Given the description of an element on the screen output the (x, y) to click on. 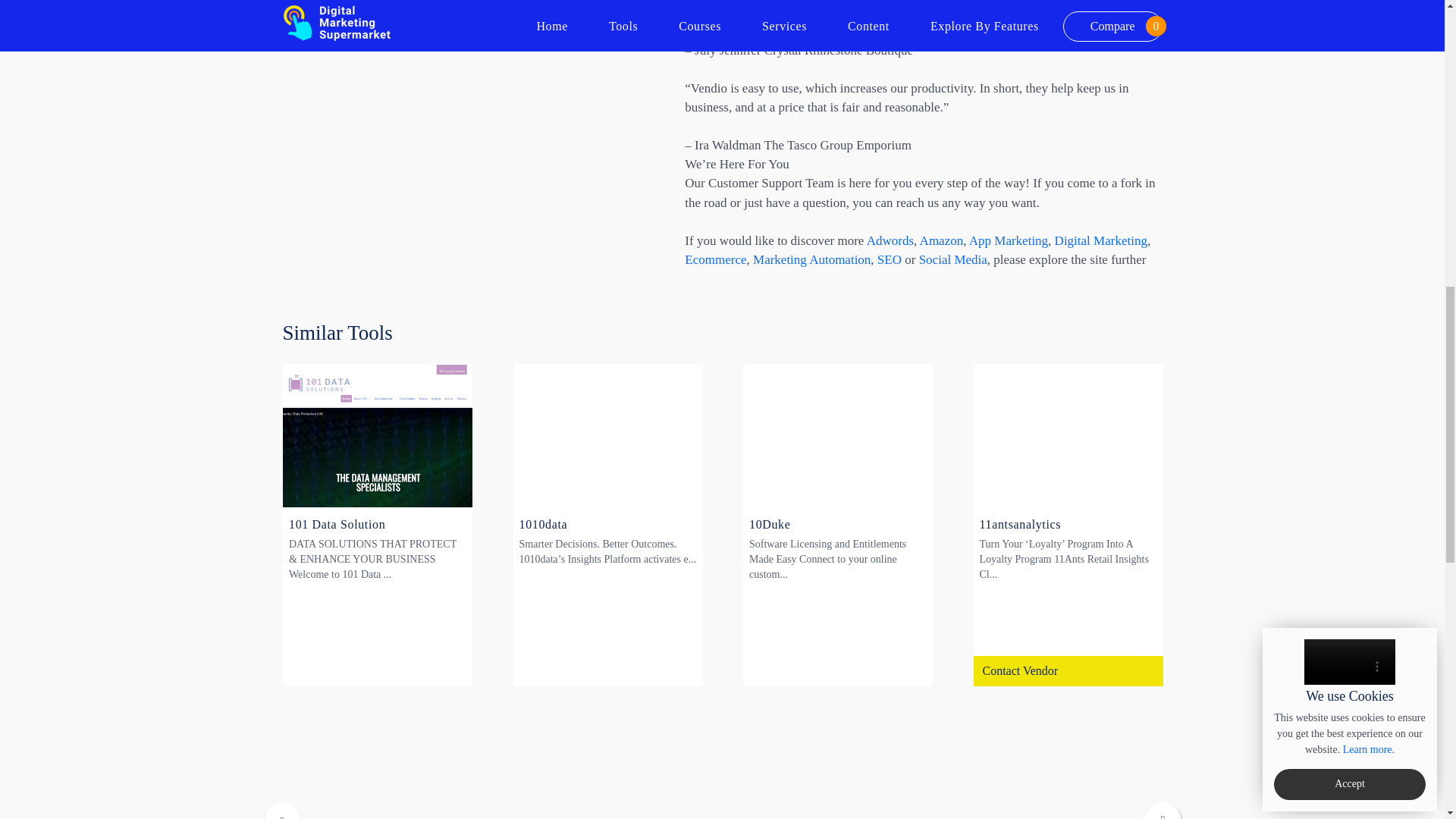
SEO (889, 259)
Amazon (941, 240)
Social Media (952, 259)
Adwords (890, 240)
Ecommerce (714, 259)
App Marketing (1008, 240)
Digital Marketing (1100, 240)
Marketing Automation (811, 259)
